Given the description of an element on the screen output the (x, y) to click on. 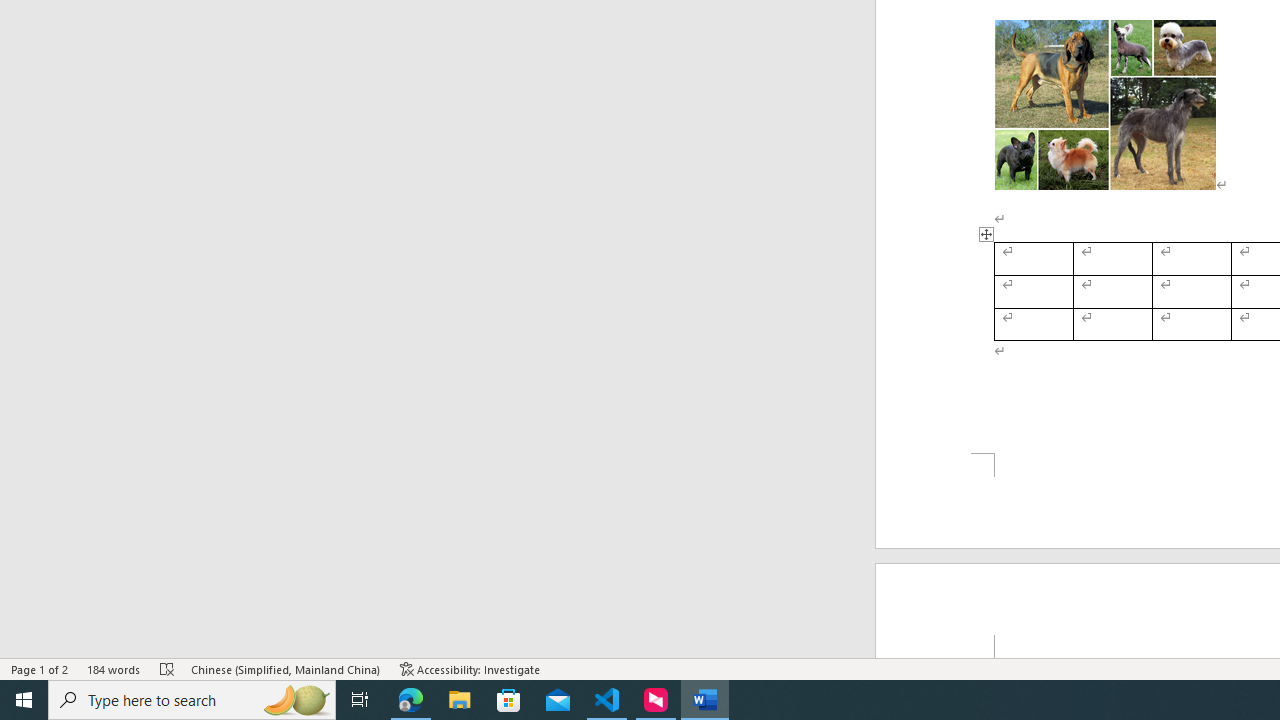
Morphological variation in six dogs (1105, 105)
Page Number Page 1 of 2 (39, 668)
Word Count 184 words (113, 668)
